Given the description of an element on the screen output the (x, y) to click on. 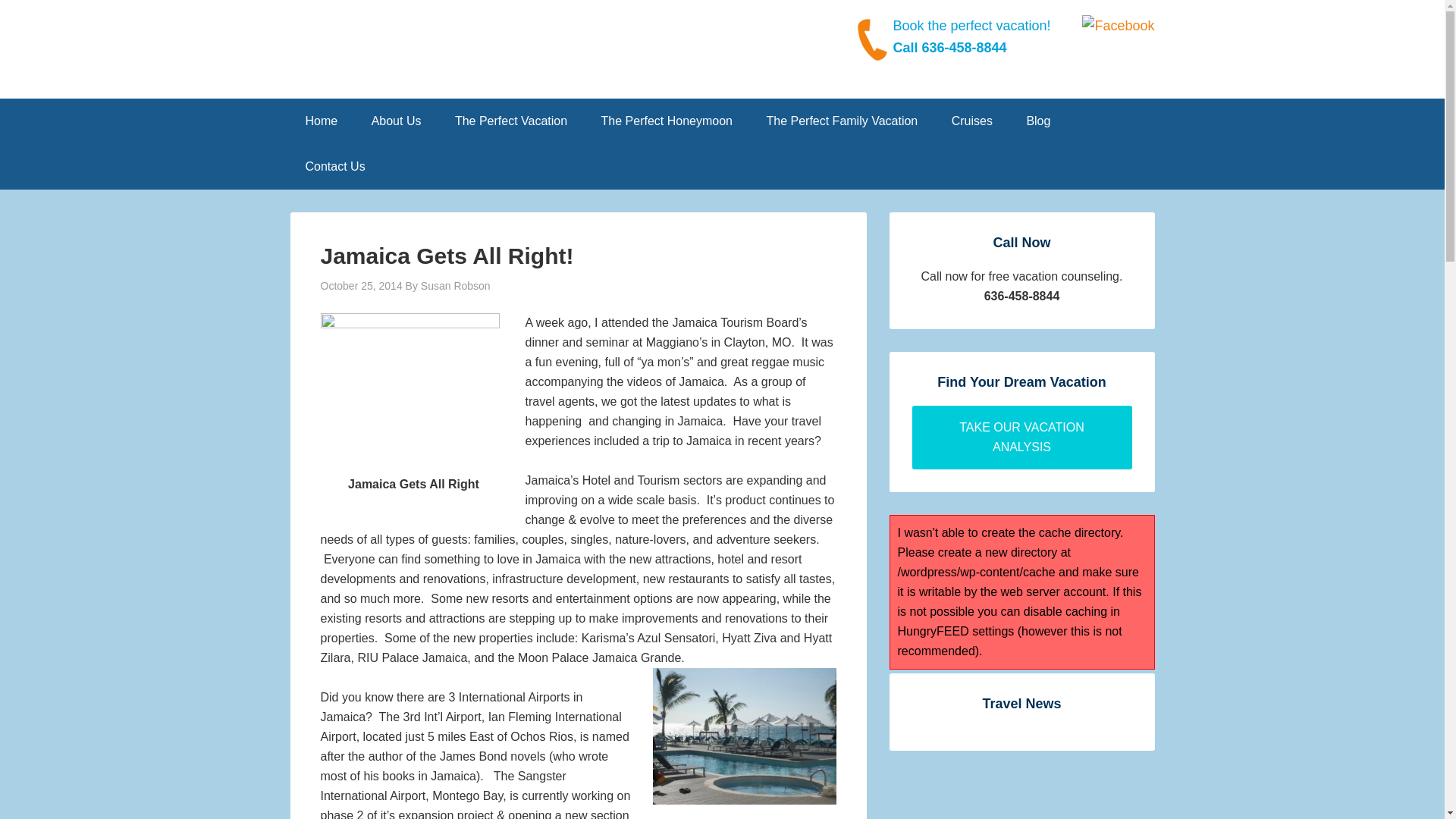
Go Travel STL (399, 56)
Blog (1037, 121)
Home (320, 121)
Cruises (971, 121)
Susan Robson (455, 285)
Contact Us (334, 166)
Jamaica Gets All Right! (446, 255)
About Us (396, 121)
The Perfect Vacation (510, 121)
The Perfect Family Vacation (842, 121)
